Given the description of an element on the screen output the (x, y) to click on. 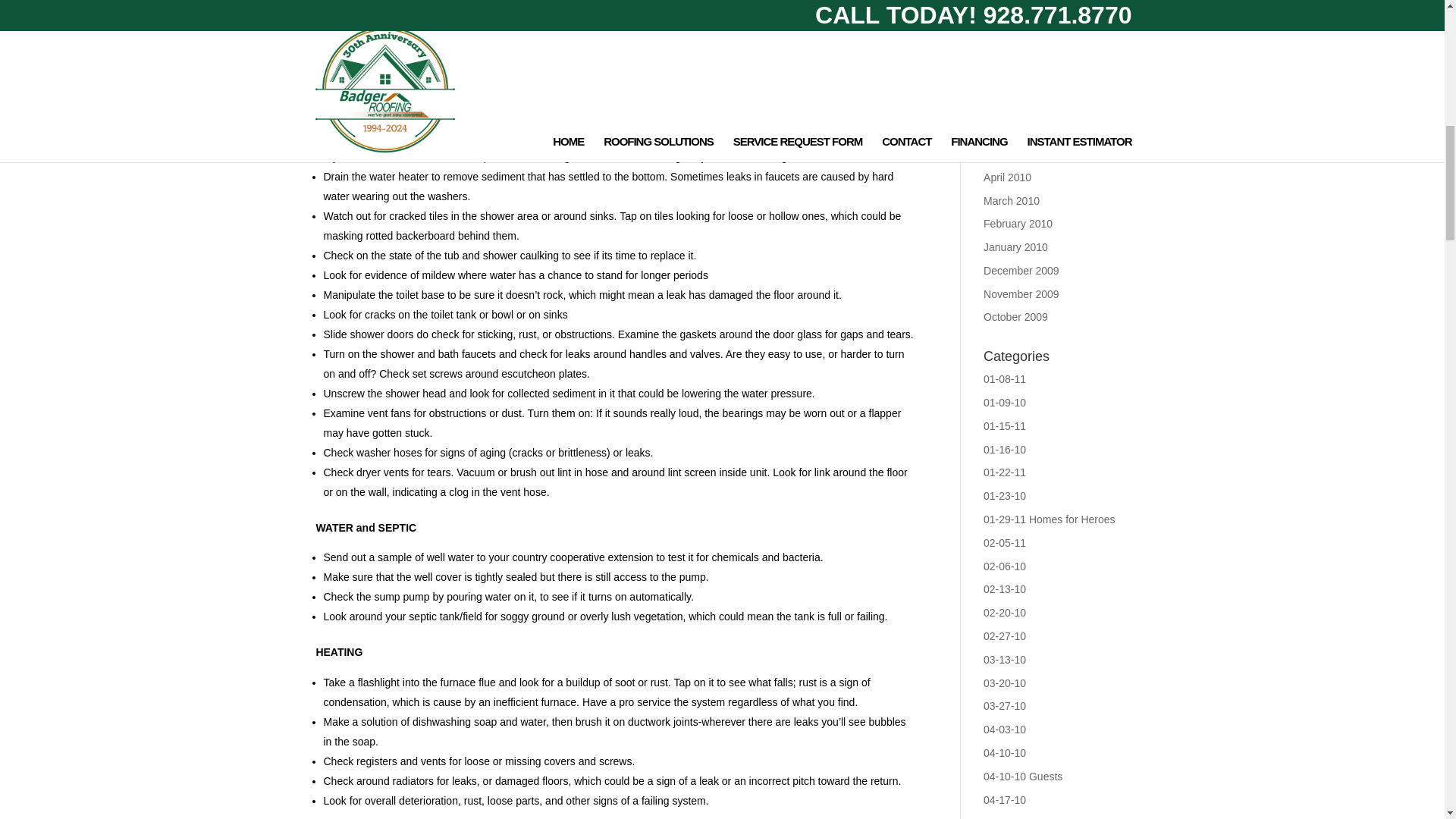
September 2010 (1023, 60)
October 2010 (1016, 37)
November 2010 (1021, 13)
